Given the description of an element on the screen output the (x, y) to click on. 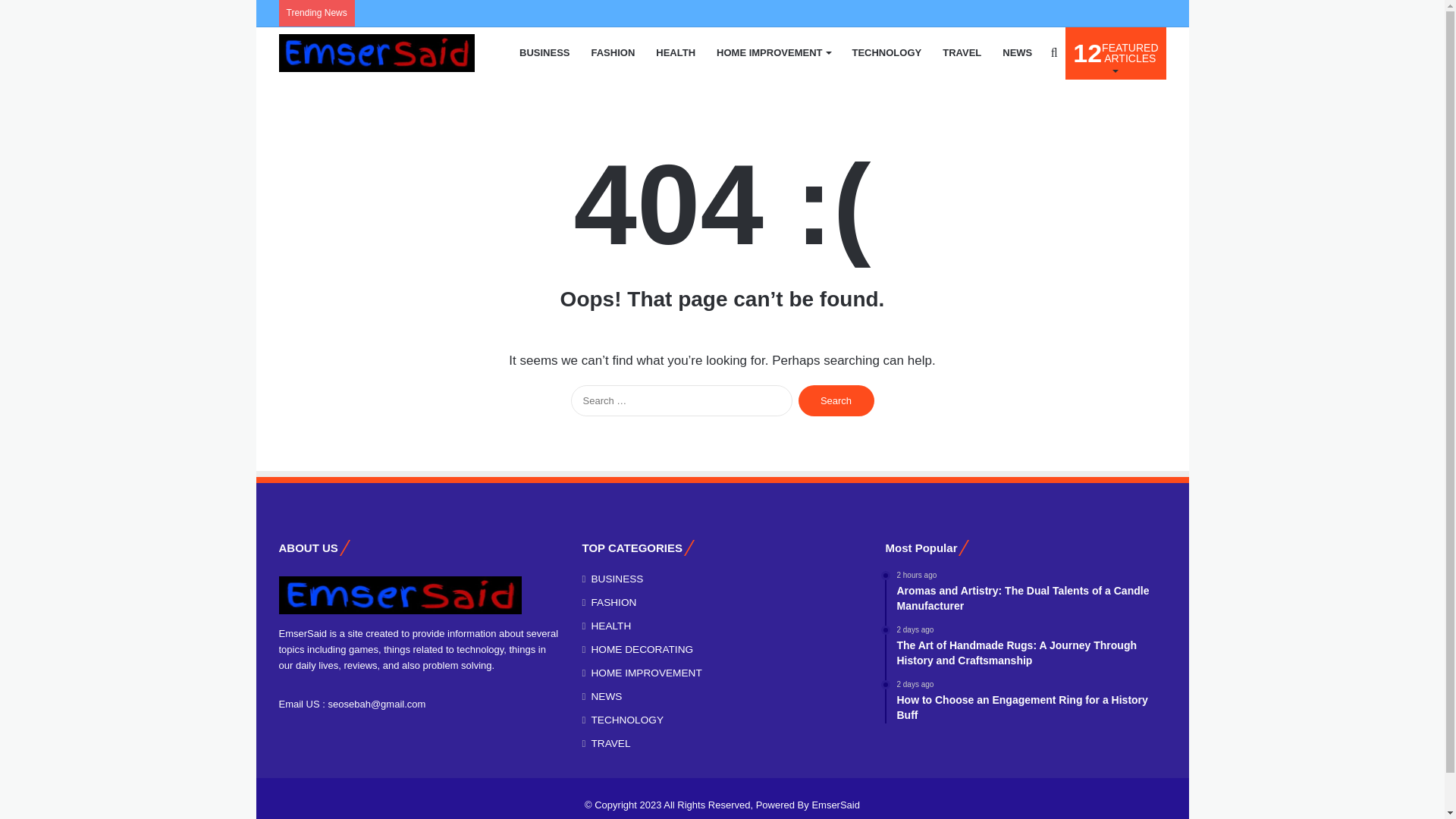
Emser said (376, 53)
NEWS (1016, 52)
HEALTH (1115, 52)
TRAVEL (675, 52)
Search (961, 52)
TECHNOLOGY (835, 400)
FASHION (886, 52)
Search (613, 52)
BUSINESS (835, 400)
